Given the description of an element on the screen output the (x, y) to click on. 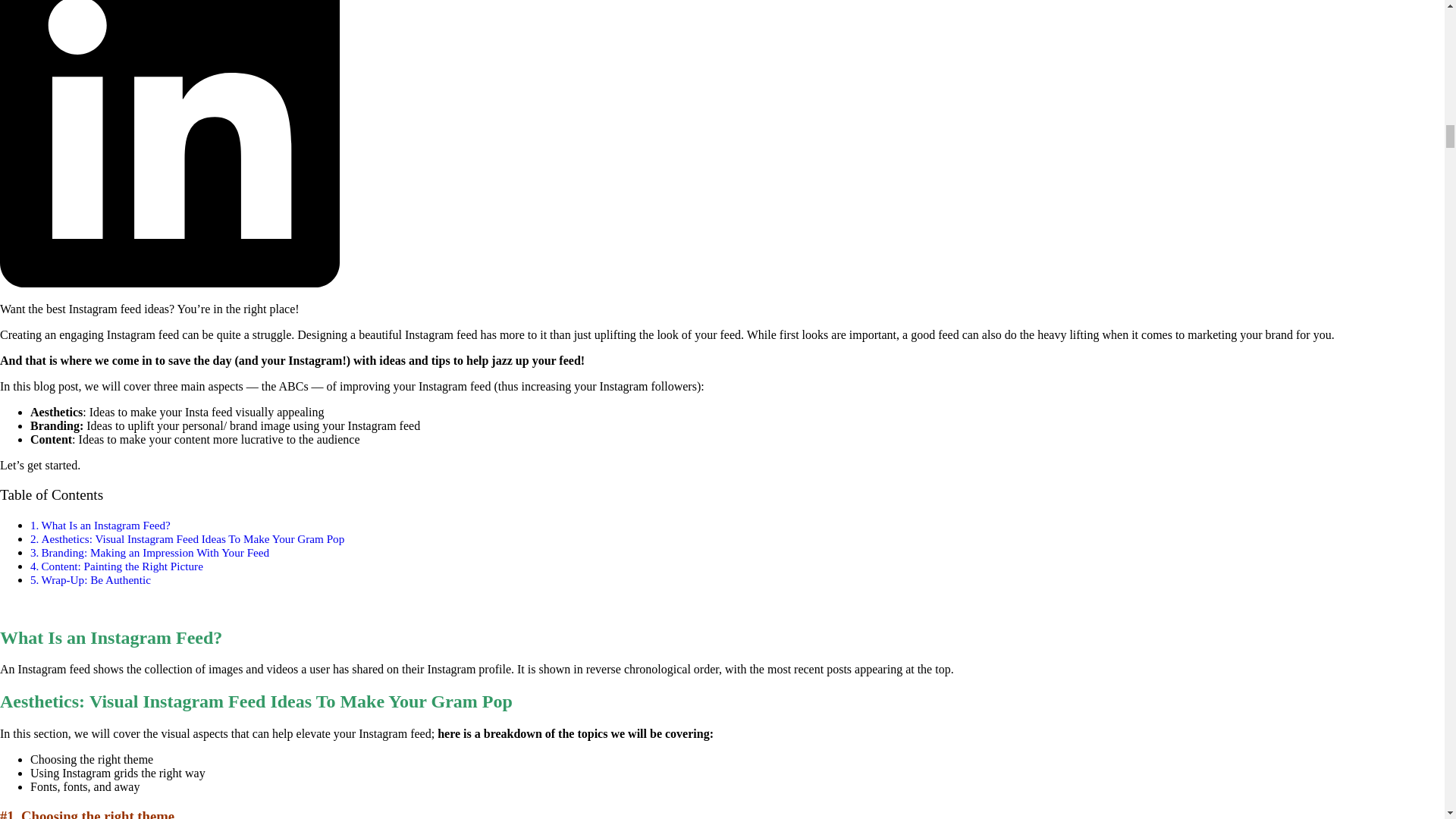
What Is an Instagram Feed? (105, 524)
Content: Painting the Right Picture (121, 565)
Branding: Making an Impression With Your Feed (154, 552)
Wrap-Up: Be Authentic (94, 579)
